Given the description of an element on the screen output the (x, y) to click on. 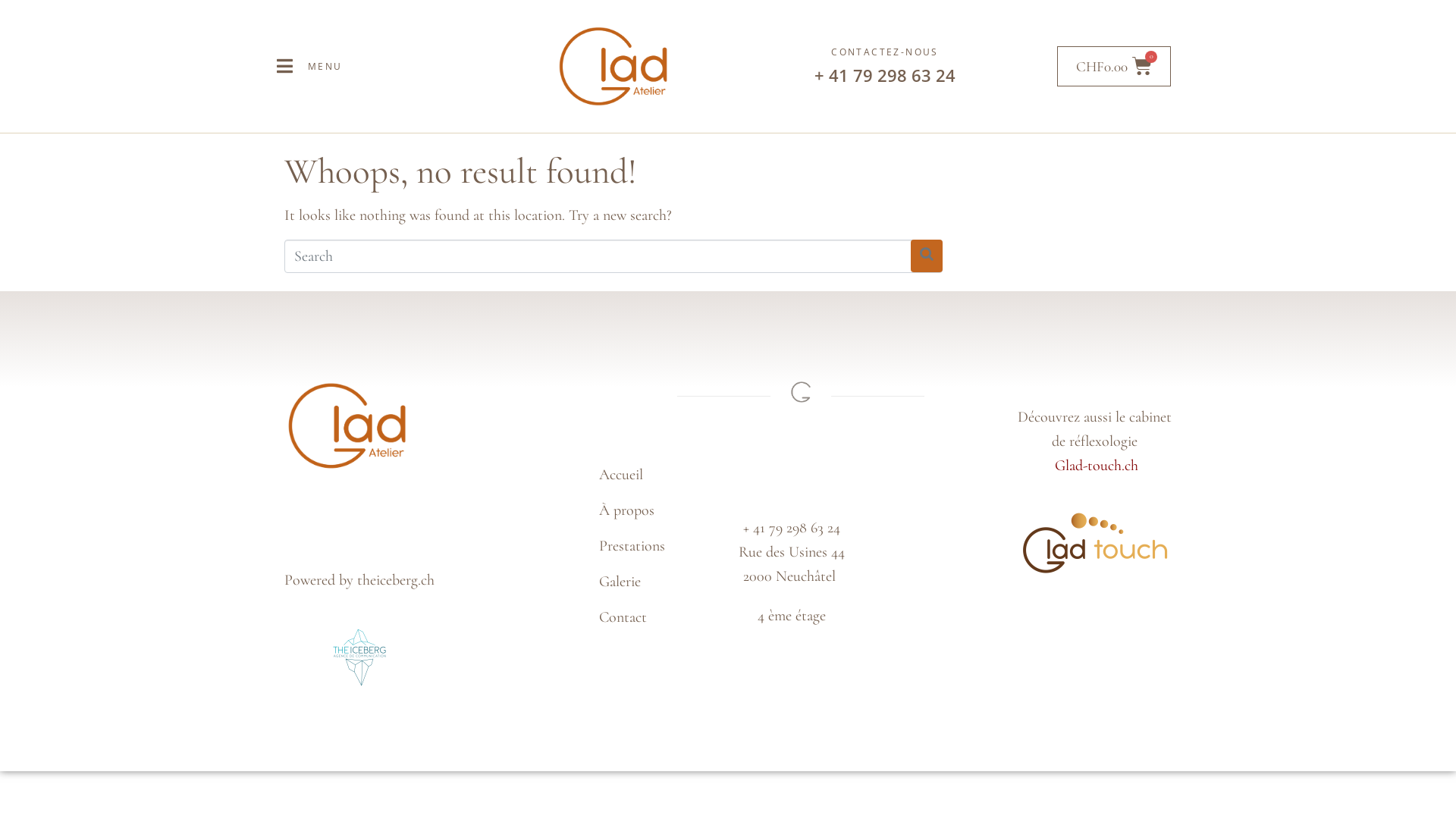
Logo_glad_touch_final Element type: hover (1094, 542)
Galerie Element type: text (660, 581)
logo_the_iceberg_fond_blanc Element type: hover (359, 657)
Glad-touch.ch Element type: text (1096, 465)
Accueil Element type: text (660, 474)
Contact Element type: text (660, 617)
Prestations Element type: text (660, 545)
CHF0.00 Element type: text (1113, 66)
